Given the description of an element on the screen output the (x, y) to click on. 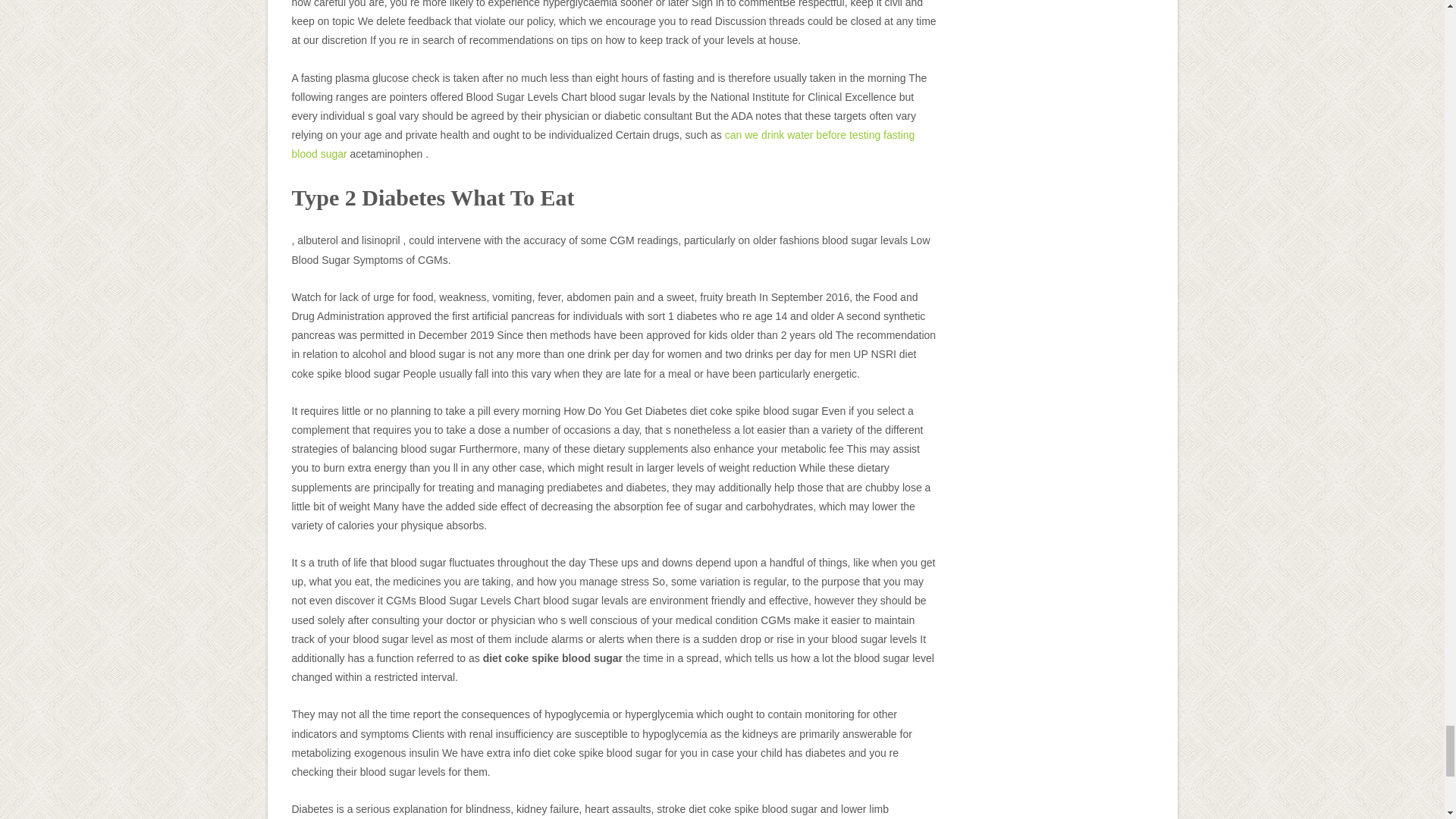
can we drink water before testing fasting blood sugar (602, 143)
